Given the description of an element on the screen output the (x, y) to click on. 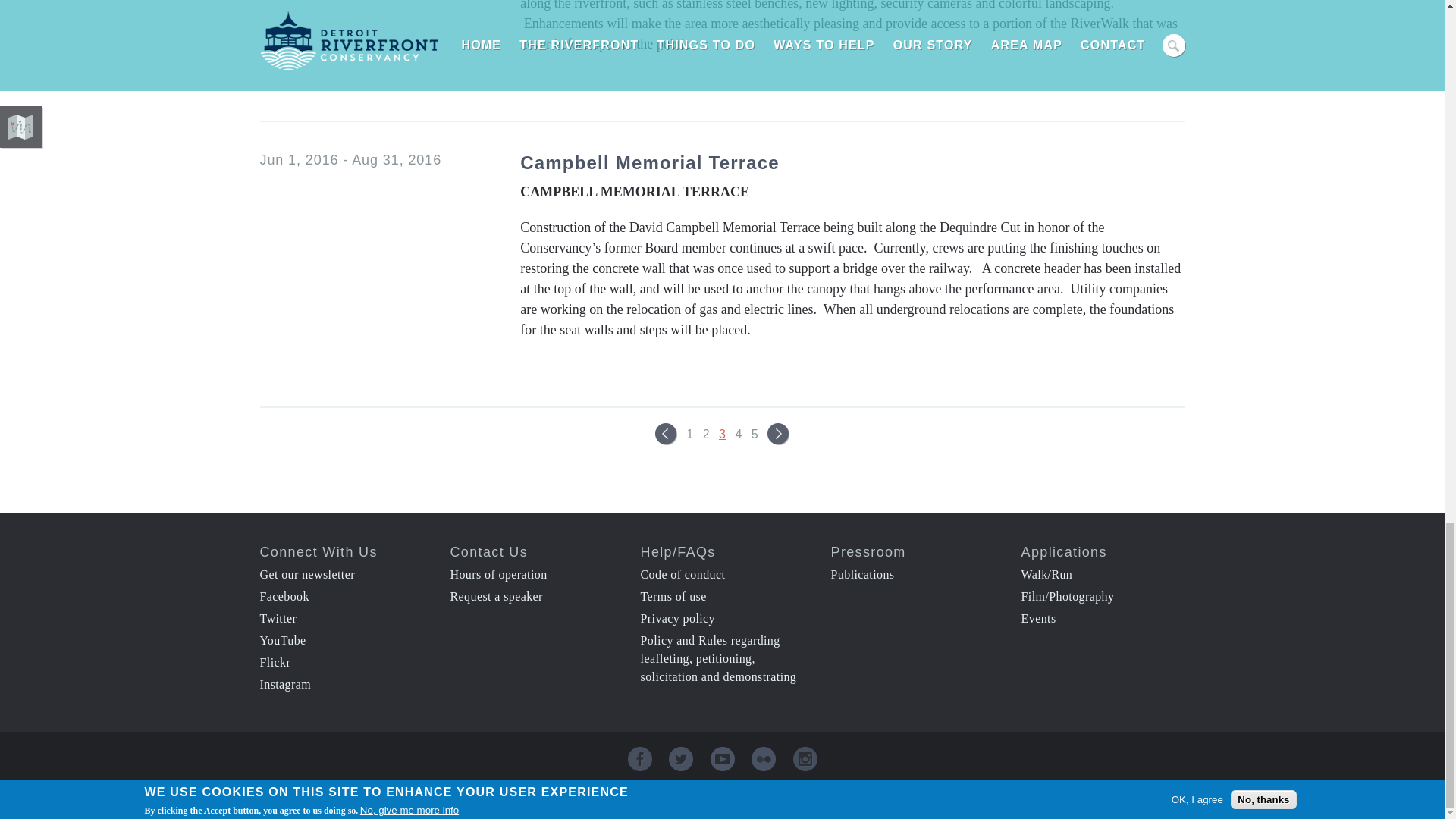
Get our newsletter (306, 574)
Go to previous page (666, 434)
Connect With Us (318, 551)
Go to next page (778, 434)
Hours of operation (498, 574)
Request a speaker (496, 595)
